Given the description of an element on the screen output the (x, y) to click on. 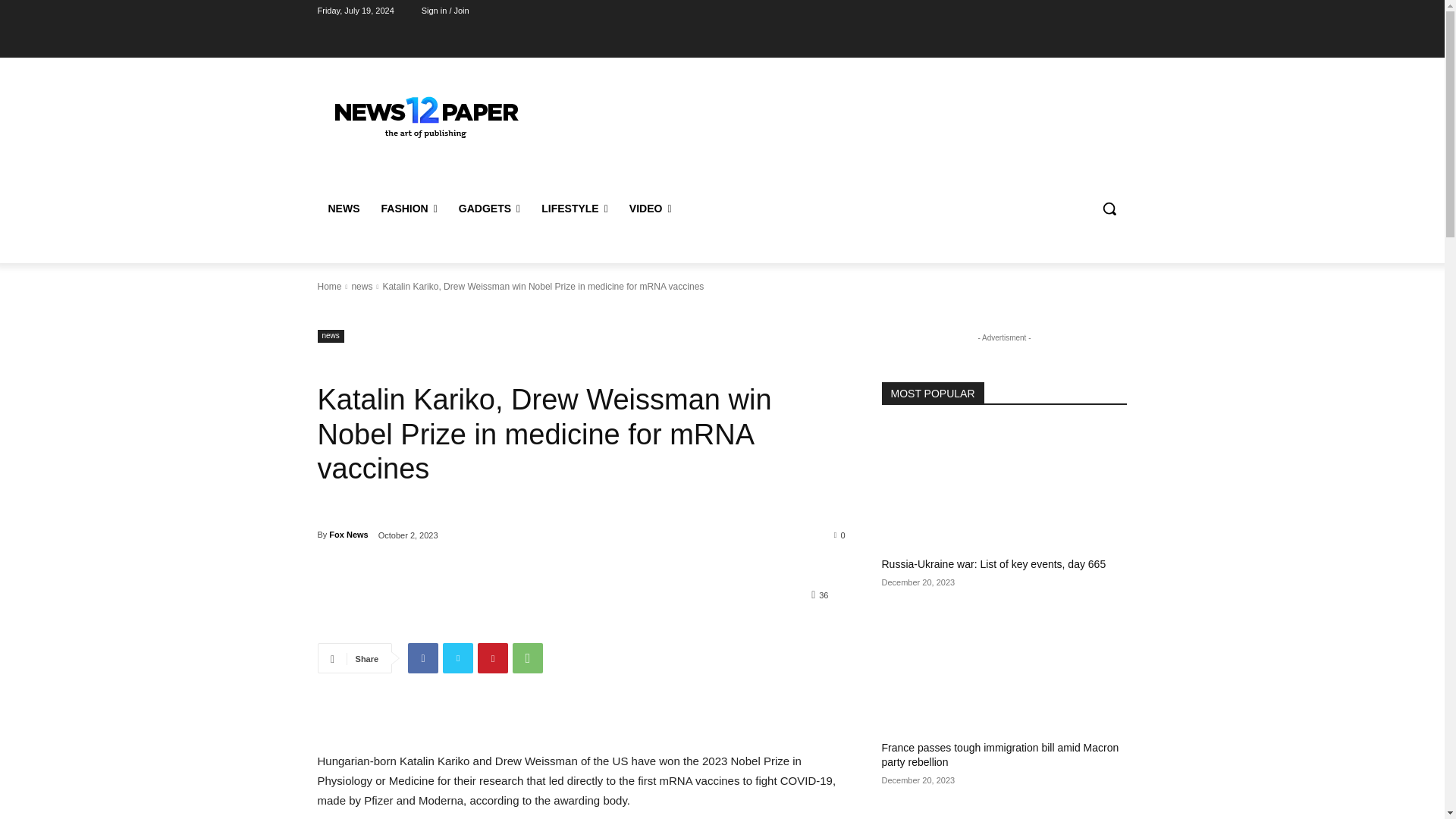
NEWS (343, 208)
FASHION (407, 208)
GADGETS (489, 208)
